Given the description of an element on the screen output the (x, y) to click on. 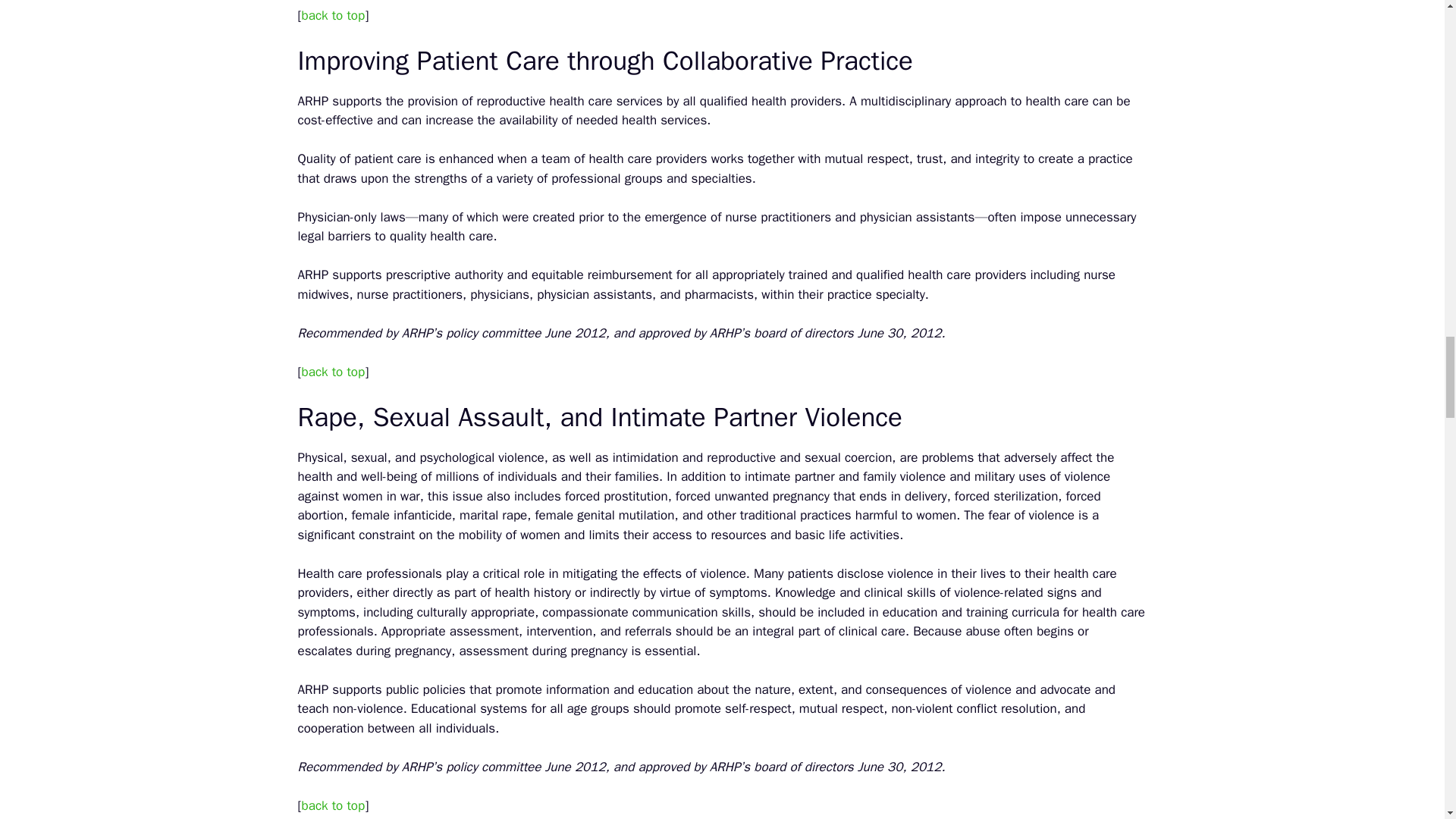
back to top (333, 371)
back to top (333, 805)
back to top (333, 15)
